Given the description of an element on the screen output the (x, y) to click on. 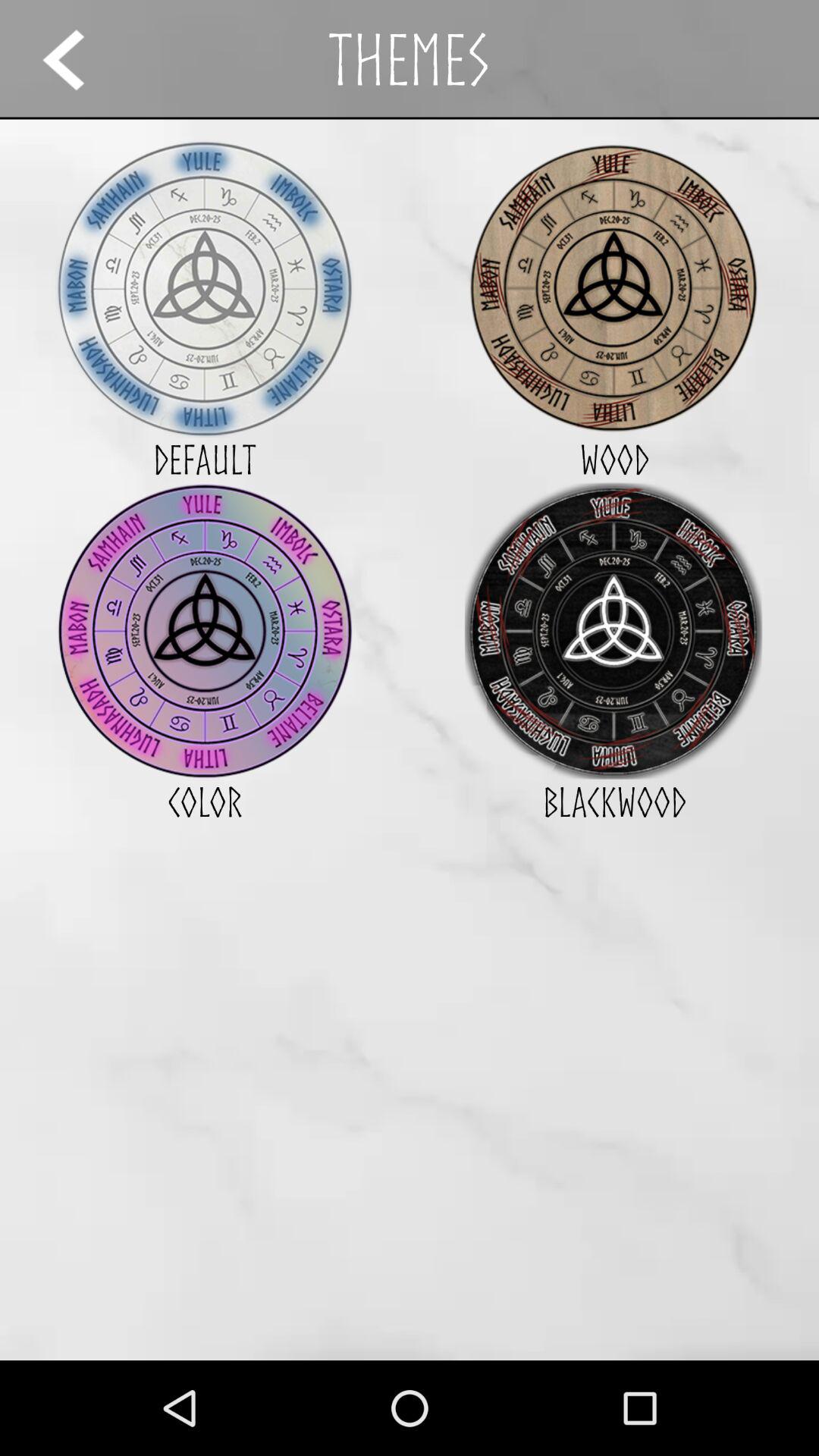
go back (77, 59)
